Given the description of an element on the screen output the (x, y) to click on. 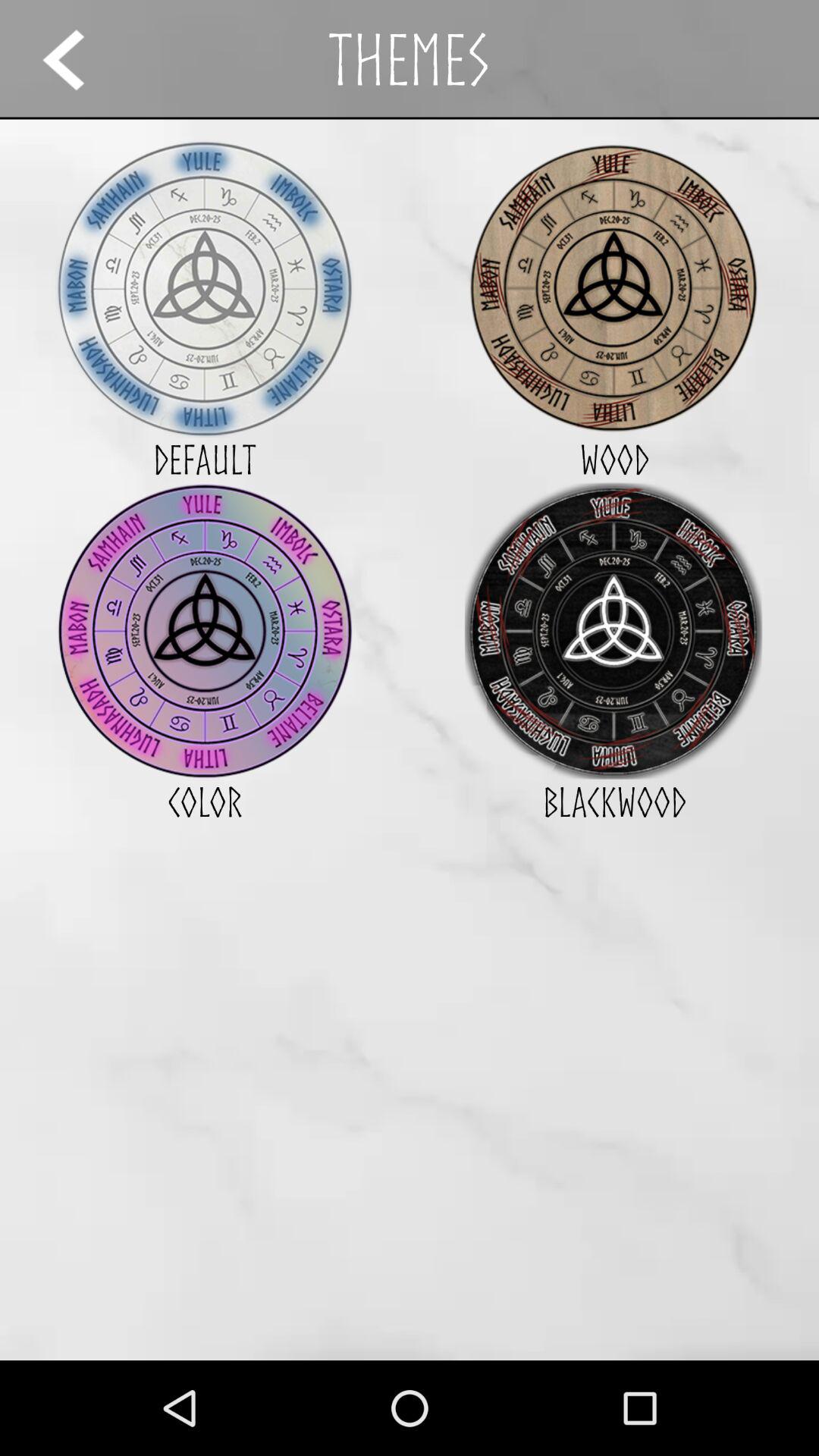
go back (77, 59)
